Given the description of an element on the screen output the (x, y) to click on. 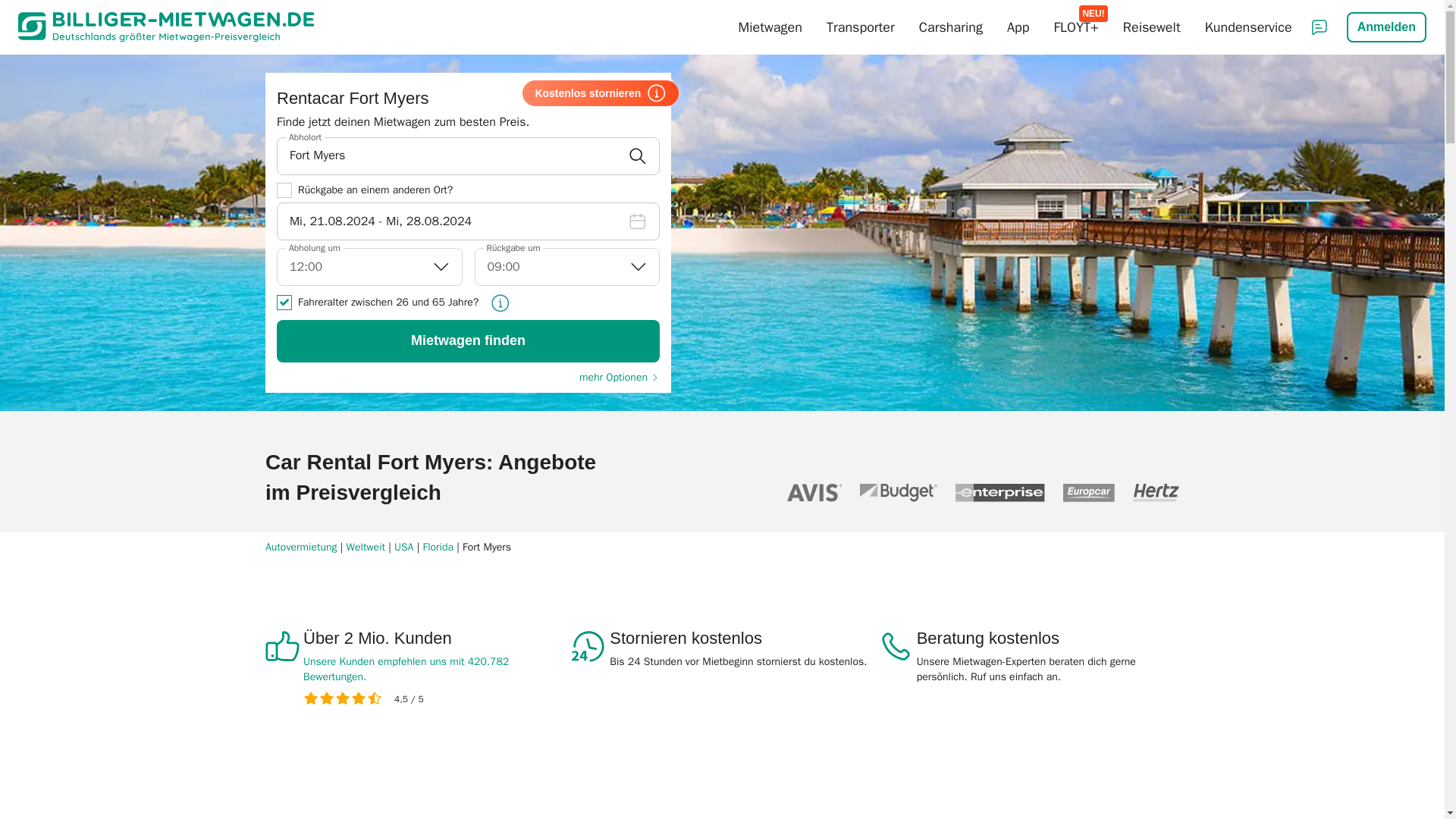
Mi, 21.08.2024 - Mi, 28.08.2024 (467, 221)
Kundenservice (1248, 27)
Carsharing (950, 27)
Anmelden (1386, 27)
Unsere Kunden empfehlen uns mit 420.782 Bewertungen. (434, 669)
Florida (438, 547)
USA (403, 547)
Autovermietung (300, 547)
mehr Optionen (619, 377)
